Given the description of an element on the screen output the (x, y) to click on. 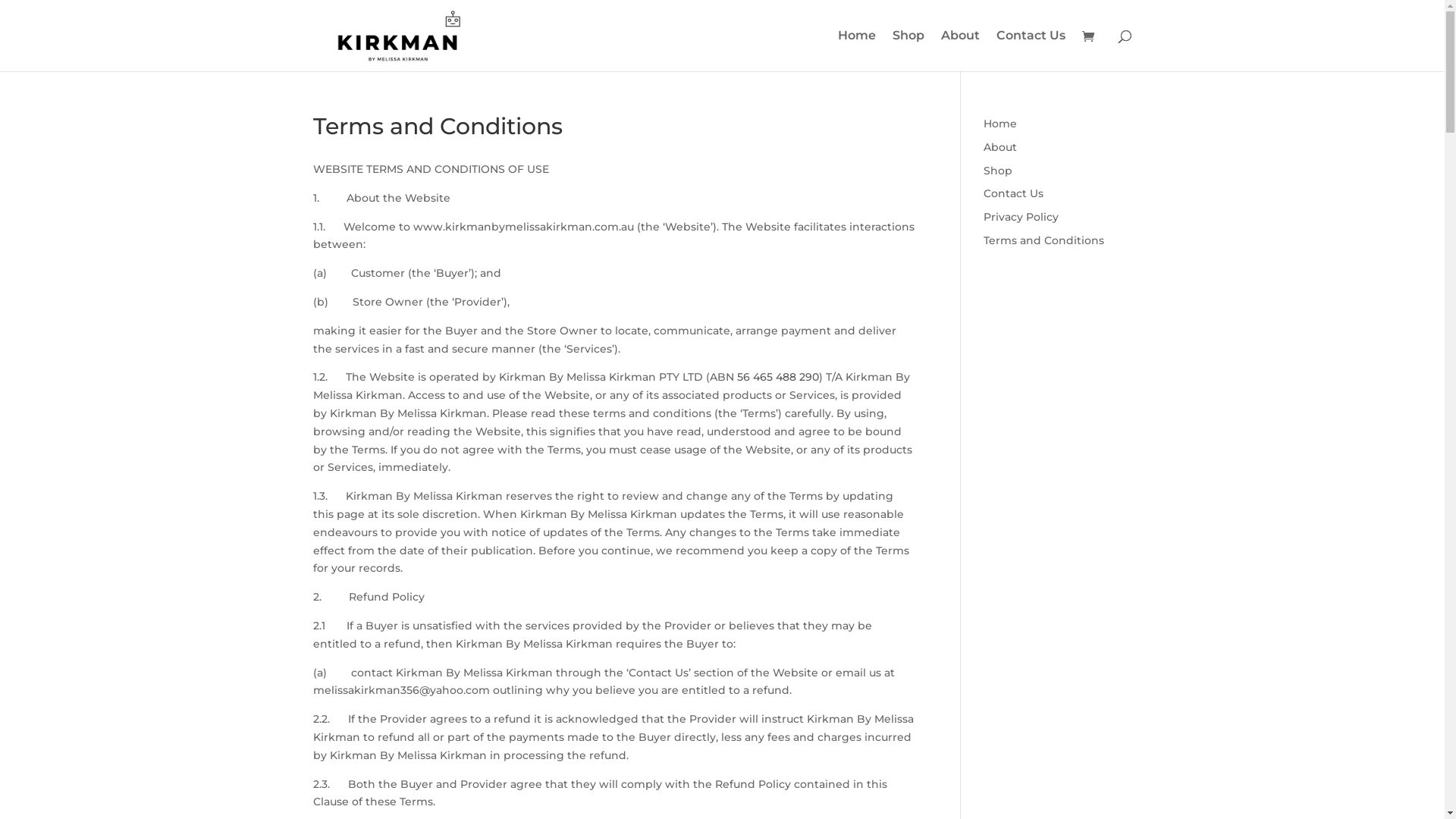
Contact Us Element type: text (1030, 50)
56 465 488 290 Element type: text (778, 376)
Home Element type: text (999, 123)
Privacy Policy Element type: text (1020, 216)
Shop Element type: text (997, 170)
About Element type: text (959, 50)
Terms and Conditions Element type: text (1043, 240)
Home Element type: text (856, 50)
About Element type: text (999, 146)
Shop Element type: text (907, 50)
Contact Us Element type: text (1013, 193)
